Given the description of an element on the screen output the (x, y) to click on. 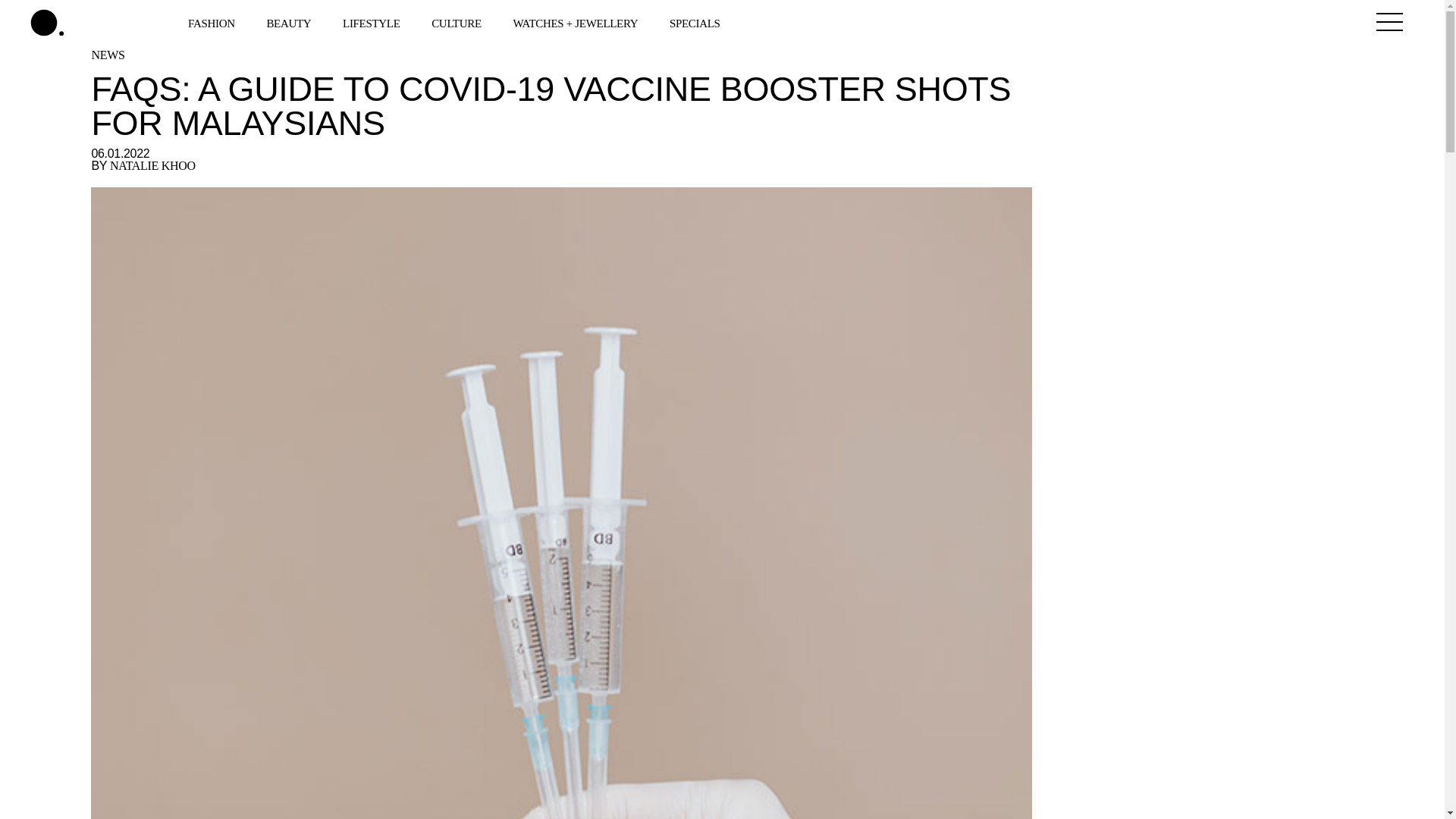
LIFESTYLE (372, 21)
FASHION (212, 21)
SPECIALS (696, 21)
CULTURE (457, 21)
BEAUTY (290, 21)
